Given the description of an element on the screen output the (x, y) to click on. 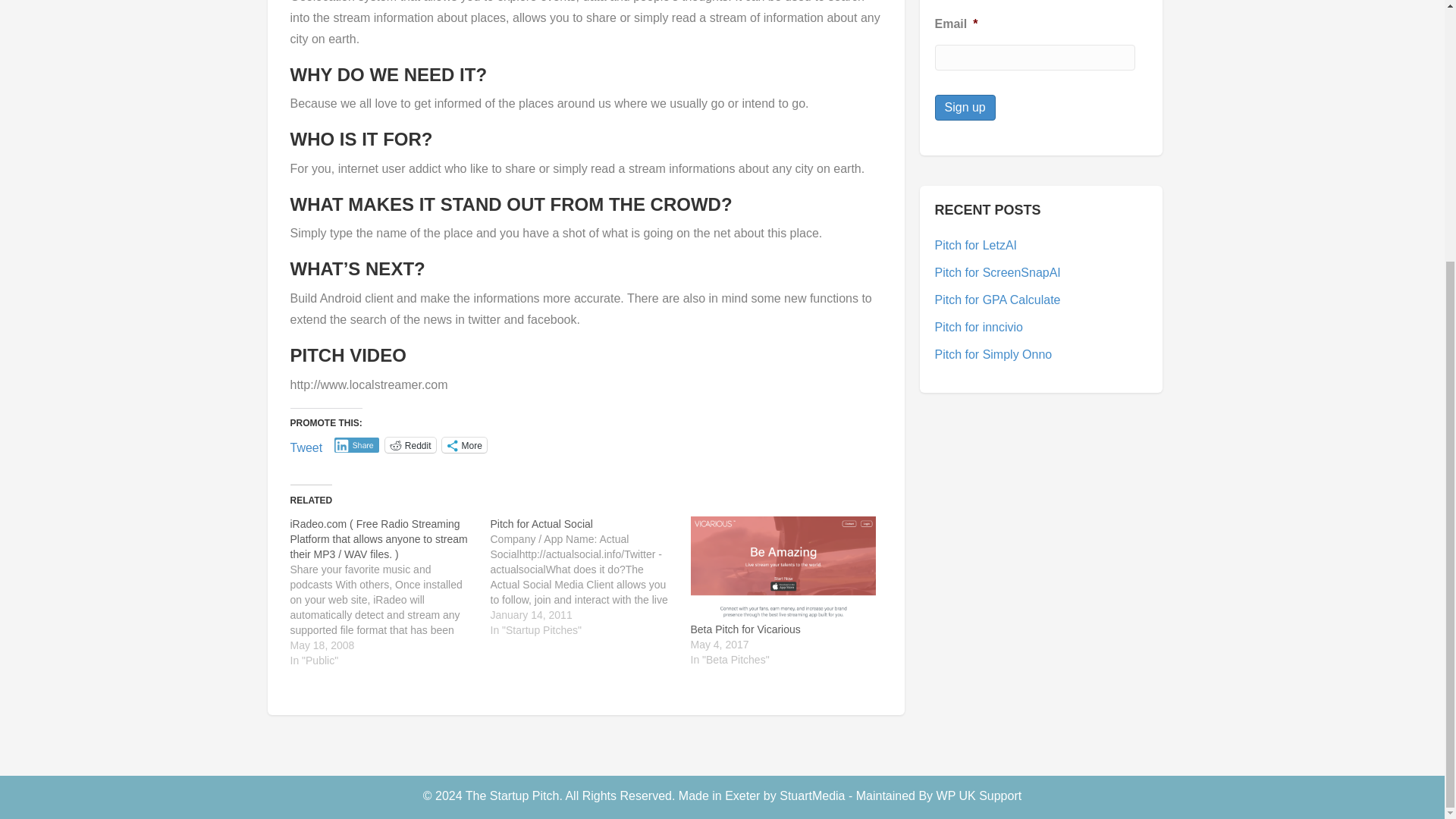
Pitch for GPA Calculate (996, 299)
Beta Pitch for Vicarious (744, 629)
Pitch for Actual Social (589, 577)
Tweet (305, 444)
Sign up (964, 107)
Pitch for Actual Social (540, 523)
Freelance Web Developer Exeter (811, 795)
Professional UK WordPress Support based in Exeter, Devon. (979, 795)
Pitch for ScreenSnapAI (996, 272)
WP UK Support (979, 795)
Pitch for Actual Social (540, 523)
Pitch for LetzAI (975, 245)
Pitch for inncivio (978, 327)
Pitch for Simply Onno (992, 354)
Click to share on Reddit (410, 444)
